Given the description of an element on the screen output the (x, y) to click on. 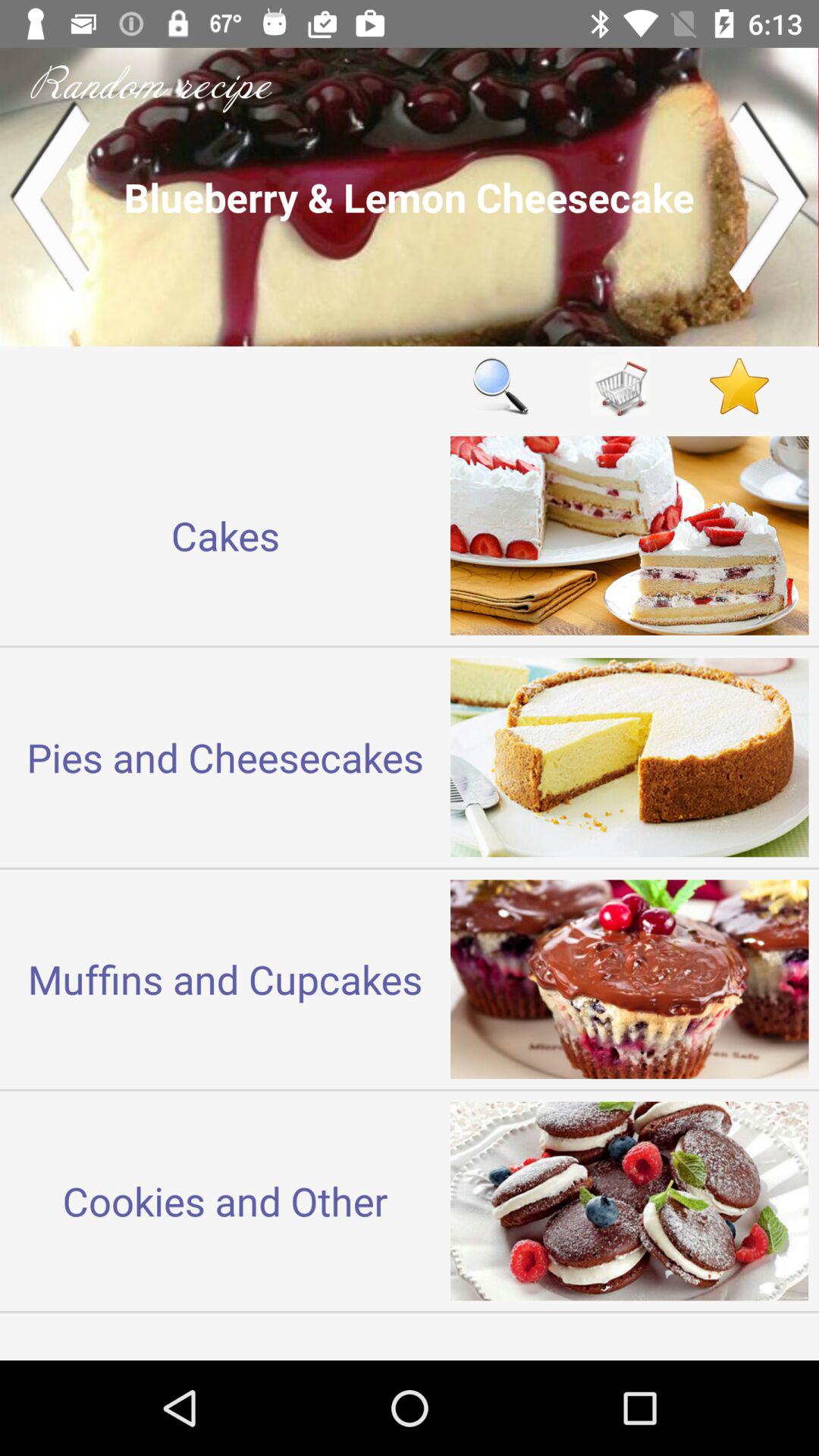
like page (739, 385)
